Given the description of an element on the screen output the (x, y) to click on. 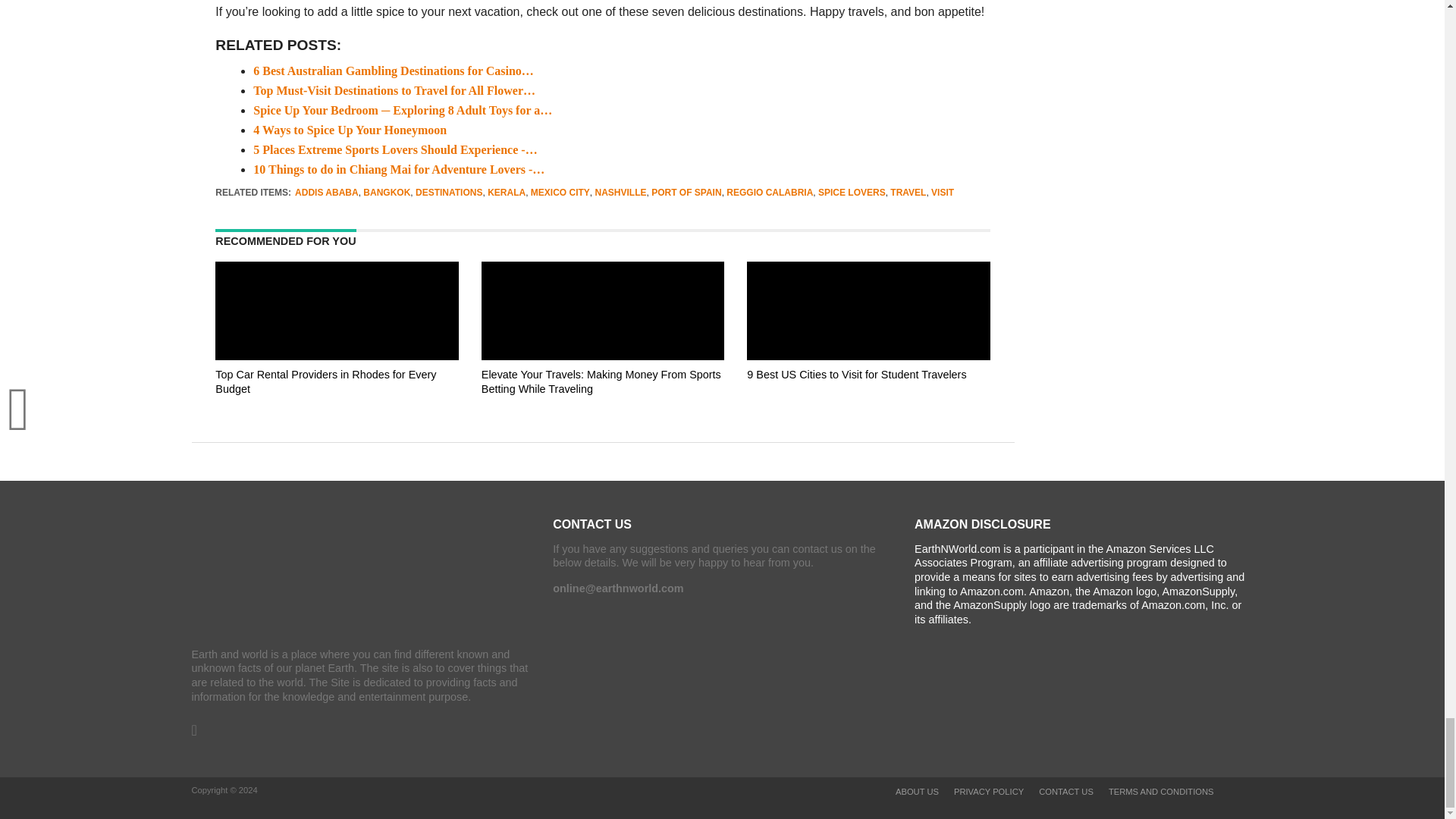
DESTINATIONS (447, 192)
4 Ways to Spice Up Your Honeymoon (349, 129)
SPICE LOVERS (851, 192)
9 Best US Cities to Visit for Student Travelers (868, 402)
MEXICO CITY (560, 192)
NASHVILLE (620, 192)
KERALA (506, 192)
ADDIS ABABA (326, 192)
REGGIO CALABRIA (769, 192)
PORT OF SPAIN (685, 192)
BANGKOK (386, 192)
Top Car Rental Providers in Rhodes for Every Budget (336, 402)
